Given the description of an element on the screen output the (x, y) to click on. 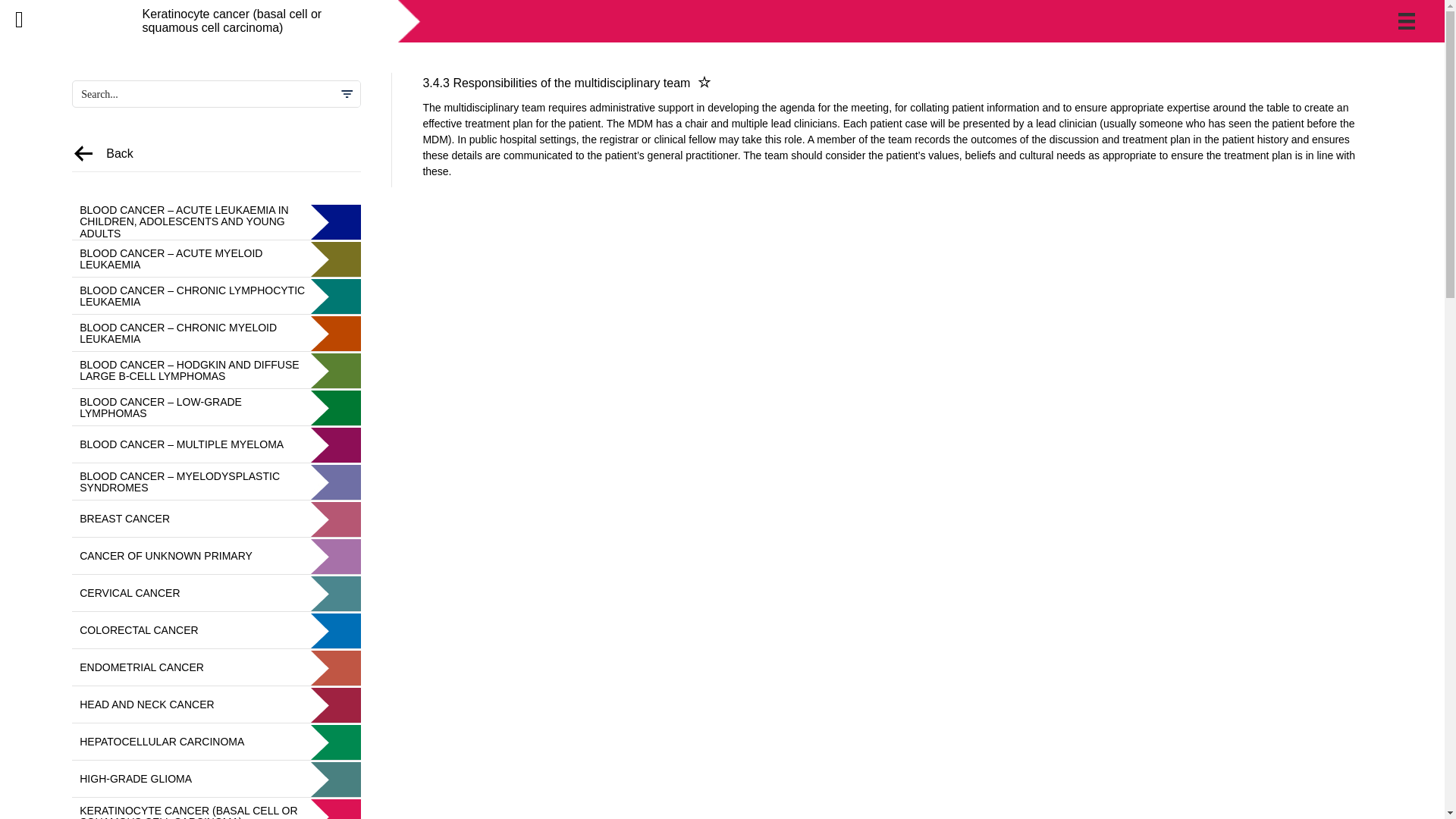
ENDOMETRIAL CANCER (216, 667)
HEAD AND NECK CANCER (216, 704)
HIGH-GRADE GLIOMA (216, 779)
Back (119, 153)
CANCER OF UNKNOWN PRIMARY (216, 556)
BREAST CANCER (216, 519)
COLORECTAL CANCER (216, 630)
HEPATOCELLULAR CARCINOMA (216, 742)
CERVICAL CANCER (216, 593)
